Given the description of an element on the screen output the (x, y) to click on. 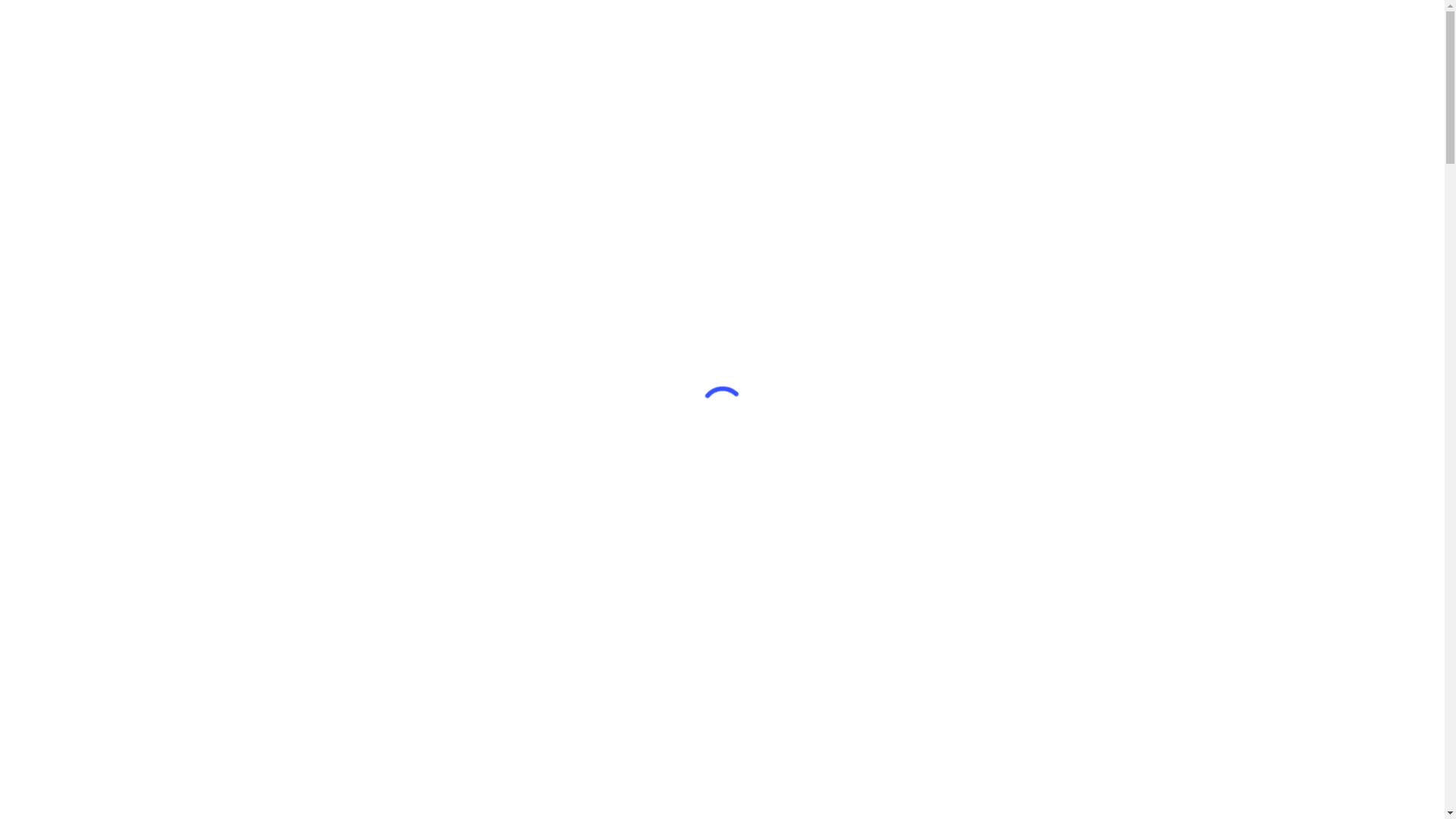
Blog Element type: text (831, 28)
Preorder Now Element type: text (1075, 28)
About the Author Element type: text (652, 28)
